Given the description of an element on the screen output the (x, y) to click on. 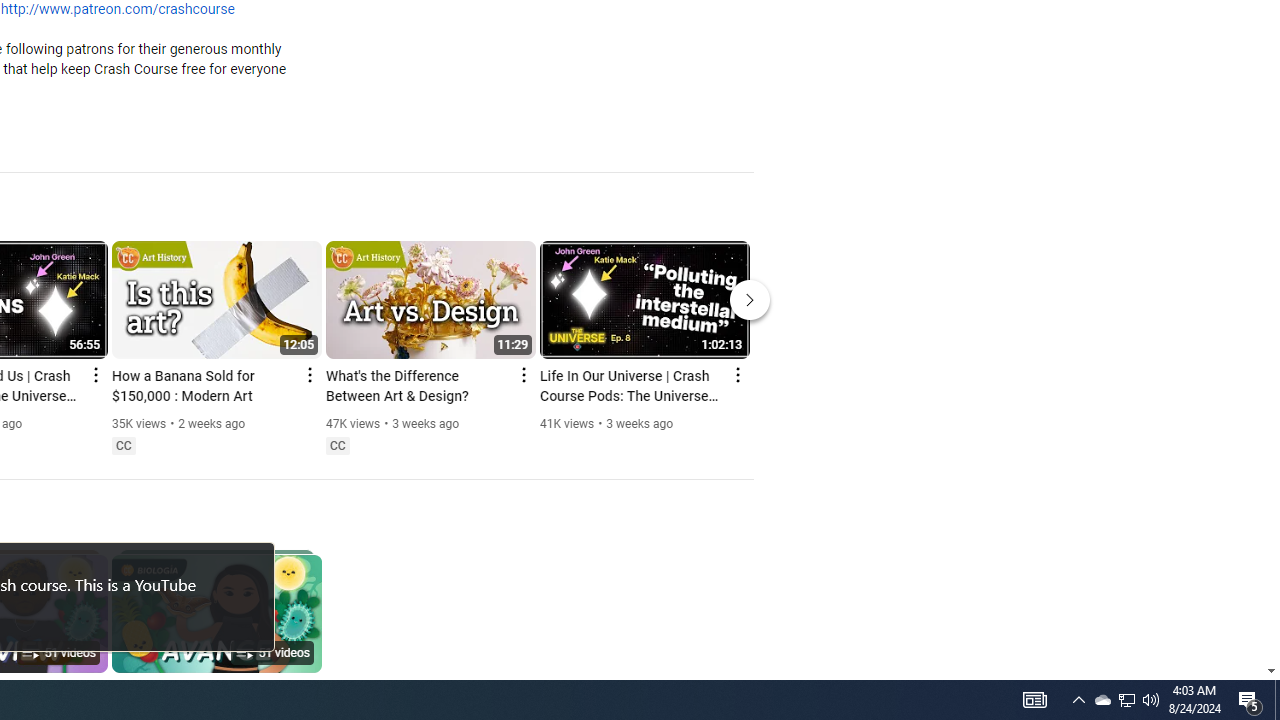
http://www.patreon.com/crashcourse (117, 10)
Action menu (736, 374)
Closed captions (337, 446)
